Given the description of an element on the screen output the (x, y) to click on. 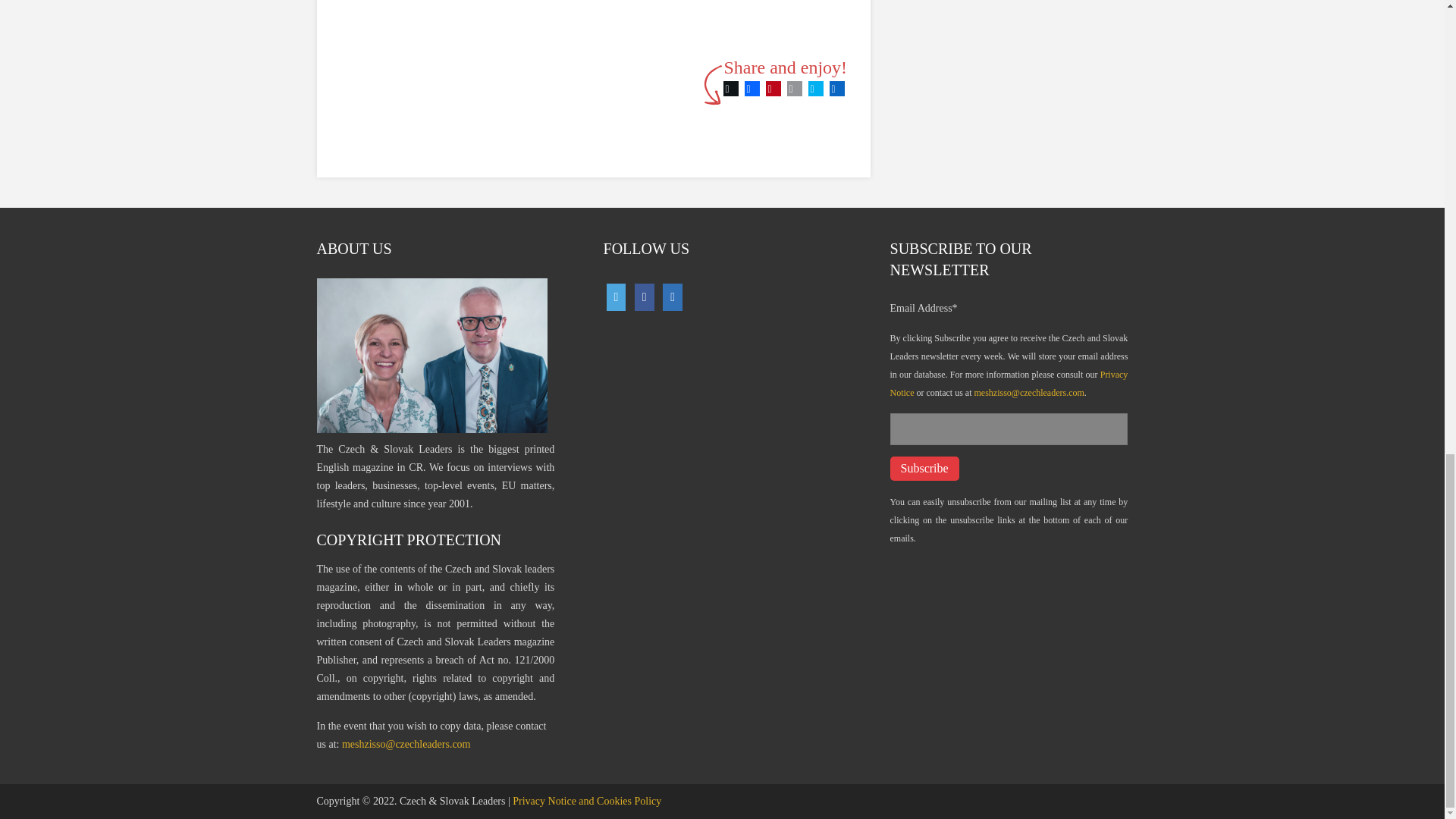
Subscribe (924, 468)
Pinterest (773, 88)
Facebook (751, 88)
LinkedIn (837, 88)
Email This (794, 88)
PrintFriendly (816, 88)
